Given the description of an element on the screen output the (x, y) to click on. 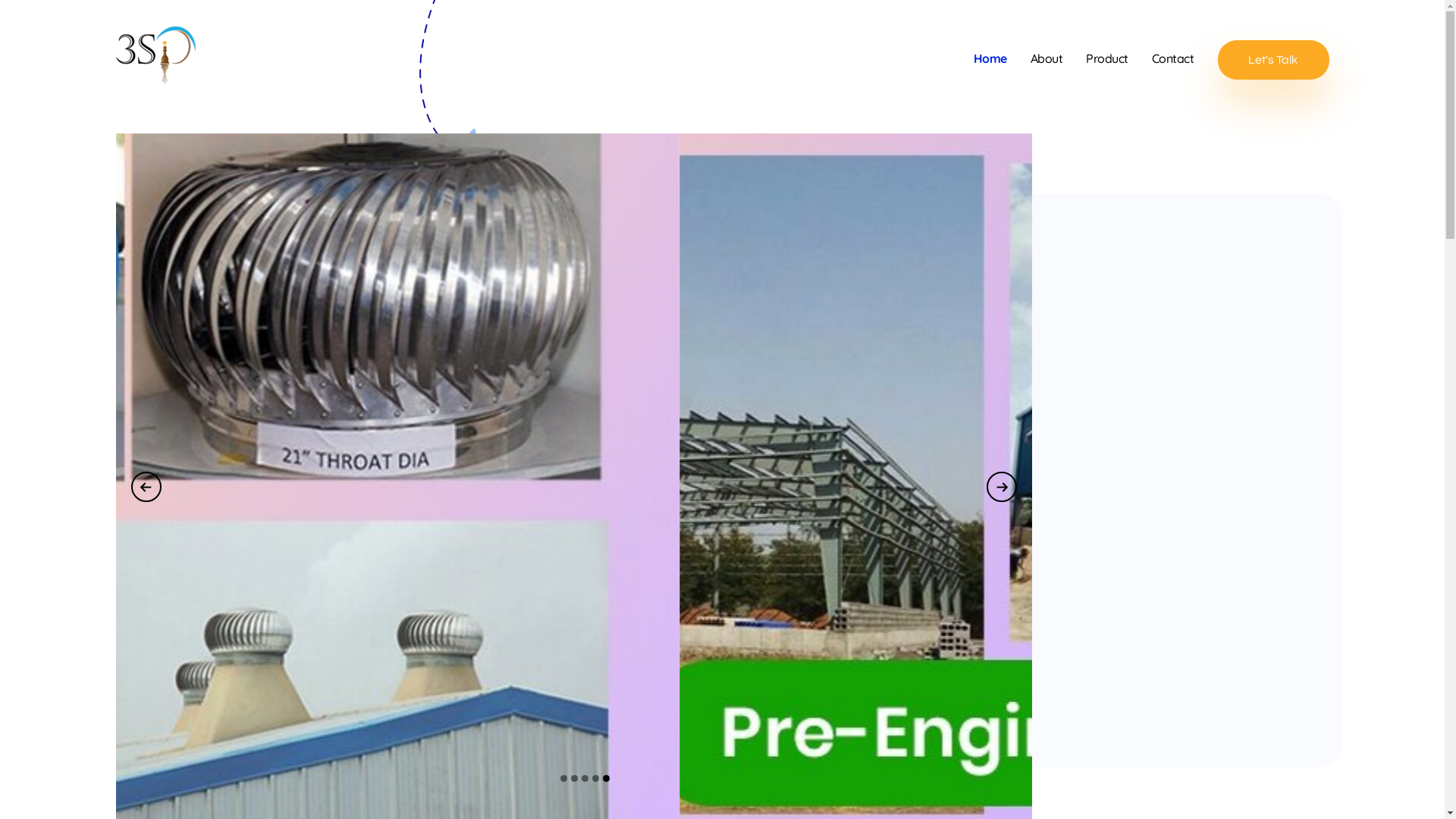
Contact Element type: text (1184, 58)
Let'S Talk Element type: text (1273, 58)
3si Steel Element type: hover (154, 55)
Home Element type: text (1001, 58)
3si Steel Element type: text (151, 93)
About Element type: text (1058, 58)
Product Element type: text (1118, 58)
